Given the description of an element on the screen output the (x, y) to click on. 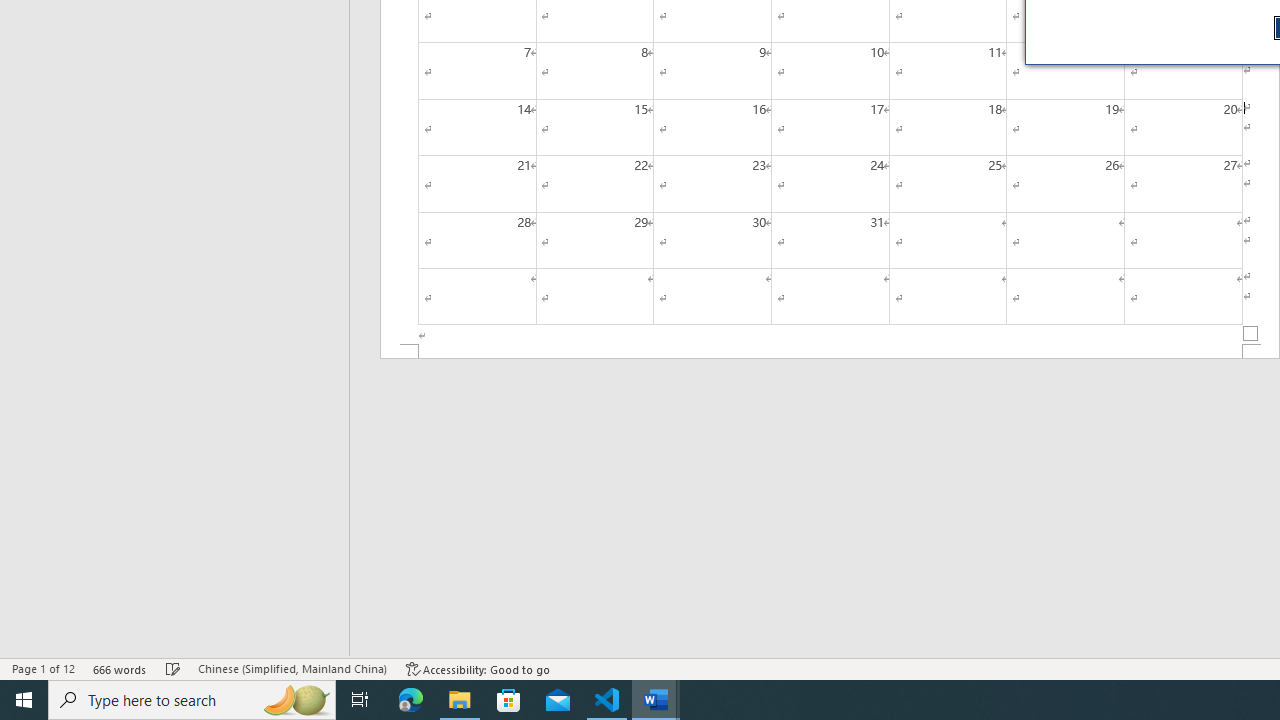
Word - 2 running windows (656, 699)
Page Number Page 1 of 12 (43, 668)
